Given the description of an element on the screen output the (x, y) to click on. 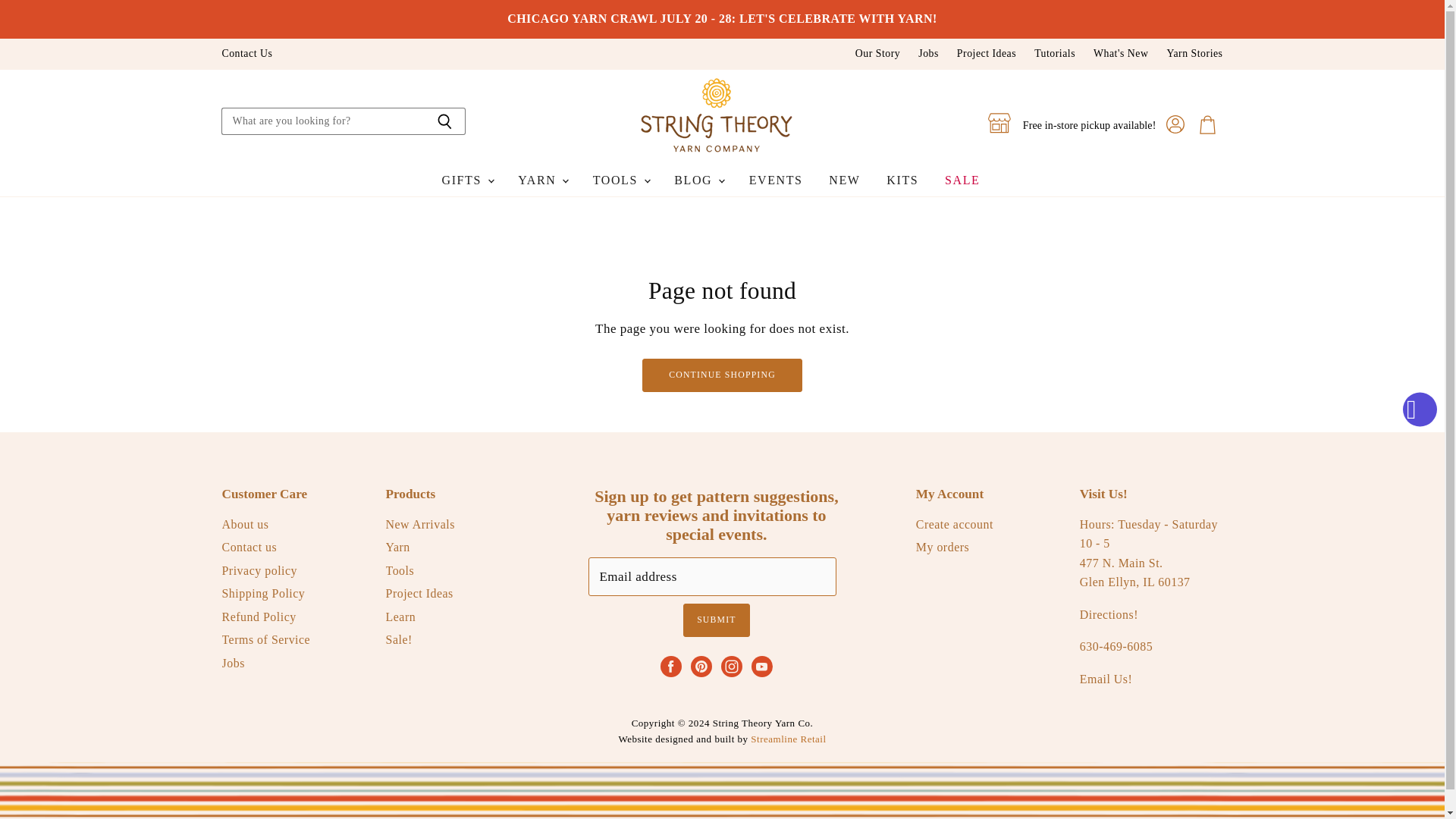
Pinterest (700, 666)
Store icon (999, 123)
View account (1175, 124)
Youtube (762, 666)
What's New (1120, 53)
tel:630-469-6085 (1116, 645)
Facebook (671, 666)
Contact Us (246, 53)
Our Story (877, 53)
View cart (1207, 124)
GIFTS (466, 179)
Jobs (928, 53)
Tutorials (1054, 53)
Yarn Stories (1194, 53)
Instagram (731, 666)
